Given the description of an element on the screen output the (x, y) to click on. 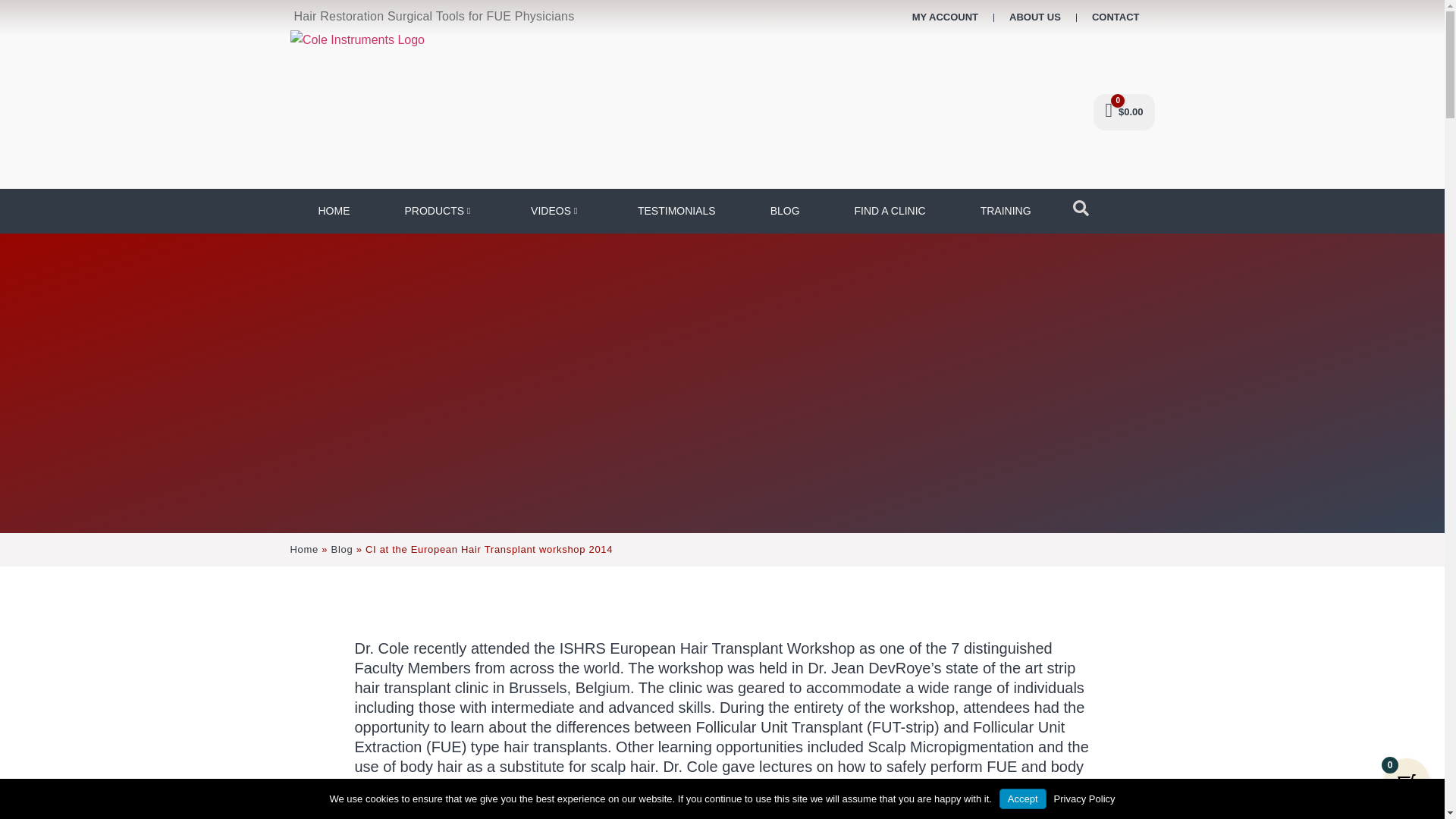
MY ACCOUNT (944, 17)
PRODUCTS (438, 211)
HOME (332, 211)
ABOUT US (1034, 17)
TESTIMONIALS (676, 211)
TRAINING (1005, 211)
CONTACT (1115, 17)
BLOG (784, 211)
FIND A CLINIC (889, 211)
